Given the description of an element on the screen output the (x, y) to click on. 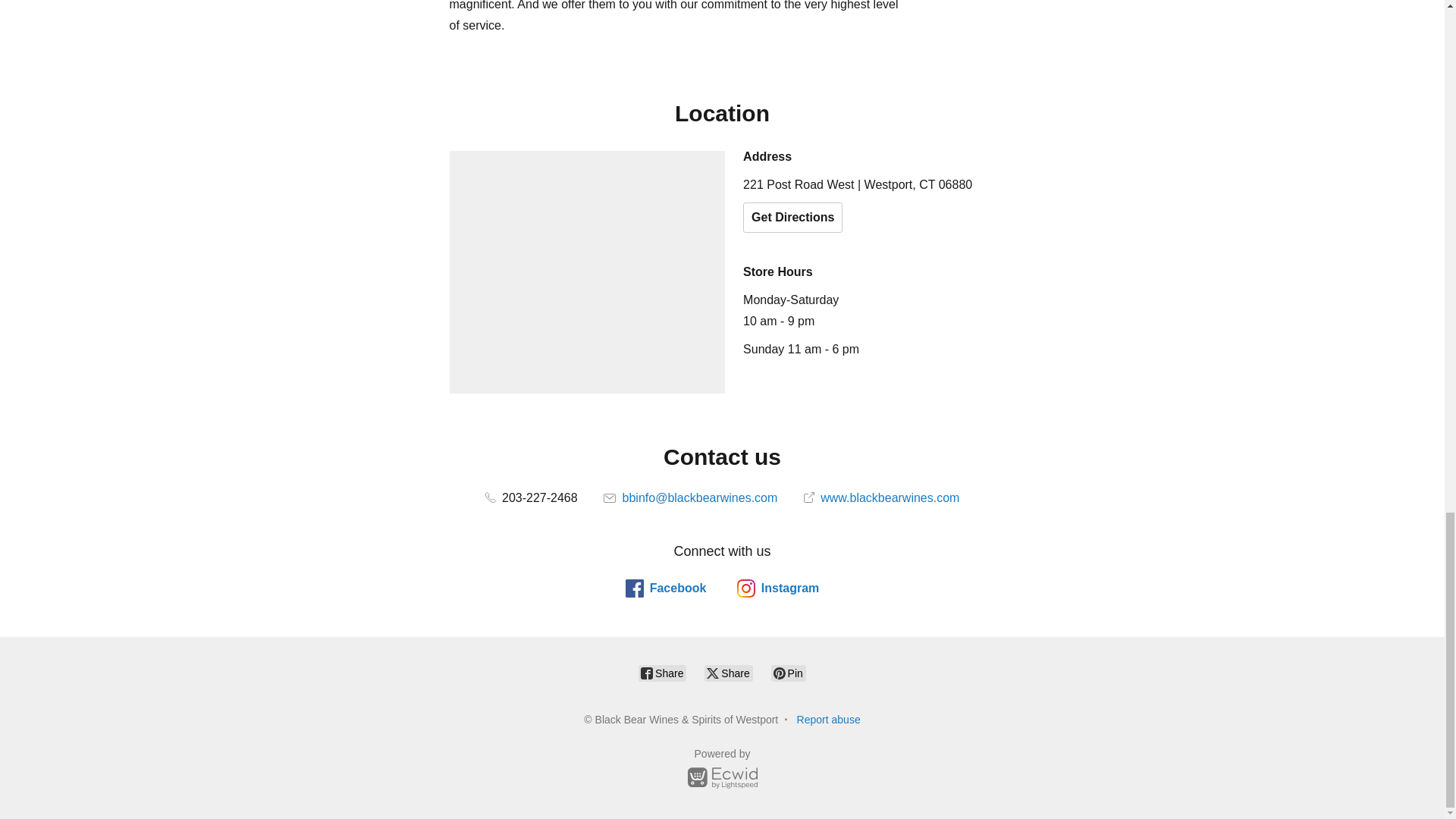
Facebook (666, 588)
Share (662, 673)
203-227-2468 (531, 497)
www.blackbearwines.com (881, 497)
Report abuse (828, 719)
Get Directions (792, 217)
Share (728, 673)
Instagram (777, 588)
Location on map (586, 271)
Pin (788, 673)
Powered by (722, 770)
